Given the description of an element on the screen output the (x, y) to click on. 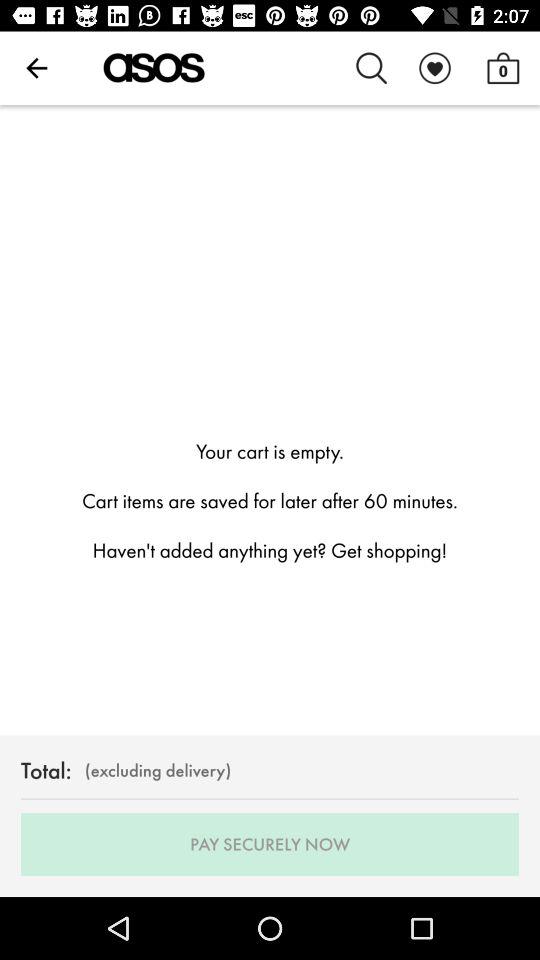
choose the item above the your cart is icon (371, 67)
